Given the description of an element on the screen output the (x, y) to click on. 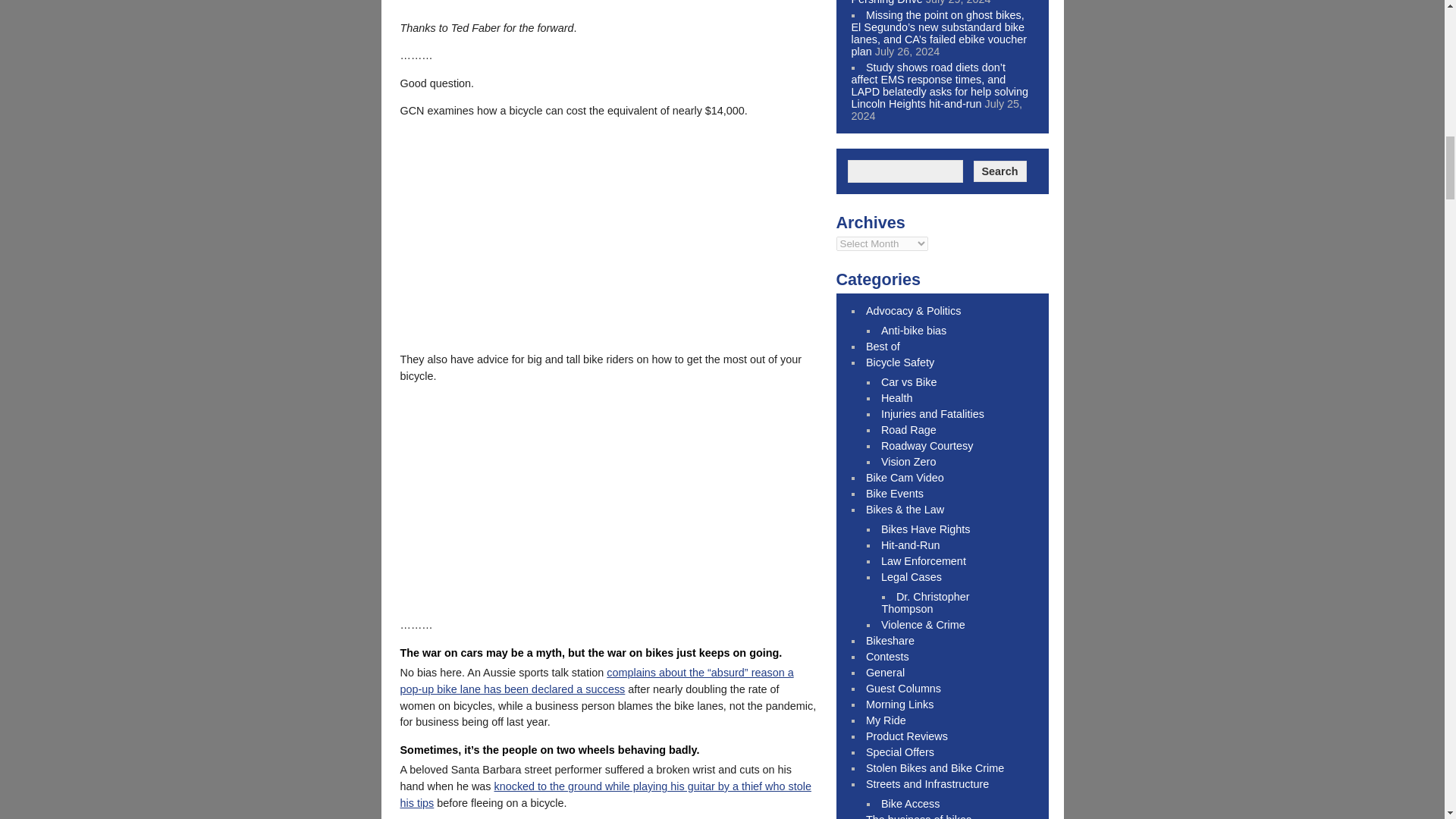
Search (1000, 170)
